Given the description of an element on the screen output the (x, y) to click on. 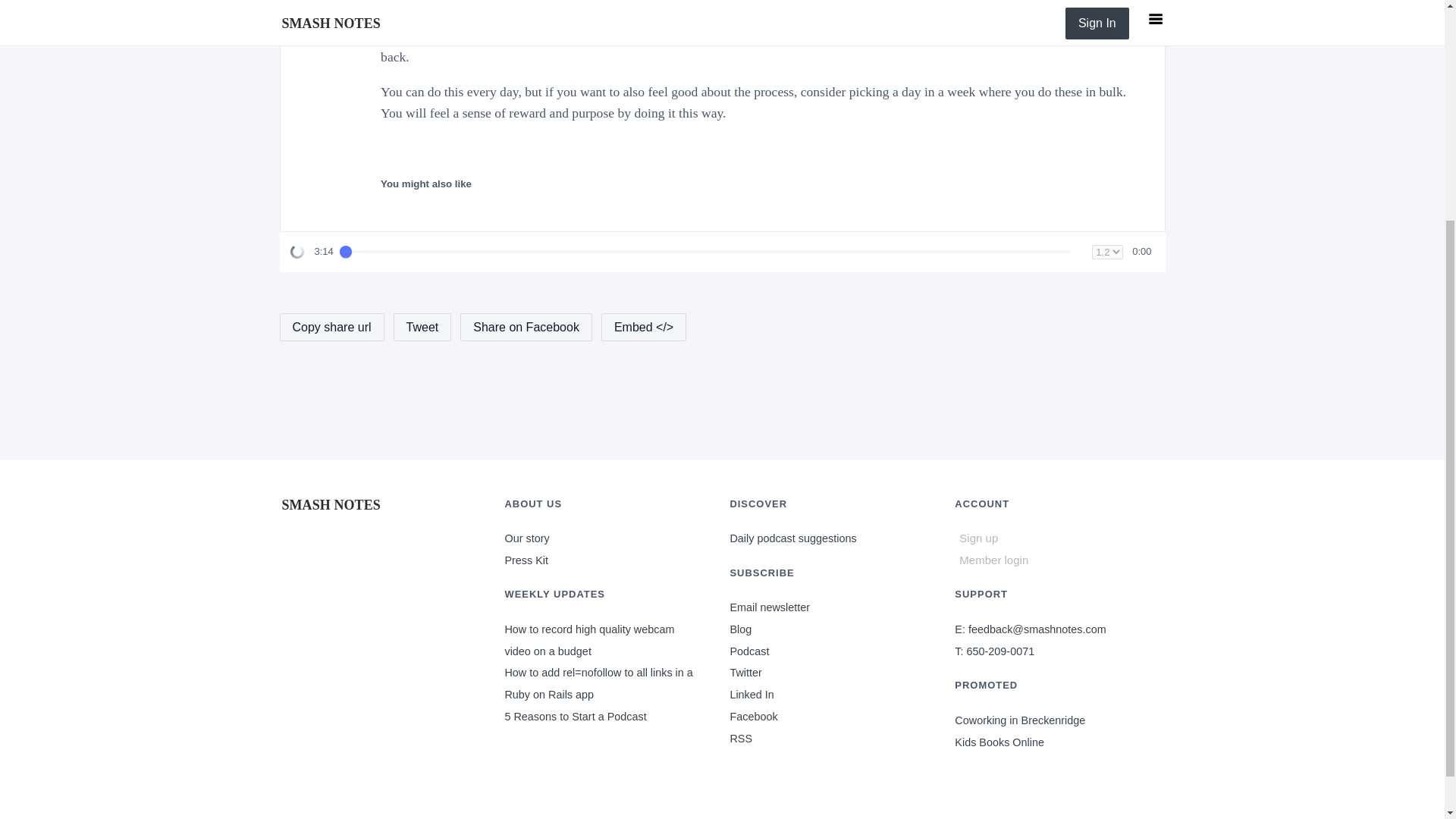
Twitter (745, 672)
Coworking in Breckenridge (1019, 720)
Sign up (1052, 538)
Podcast (748, 651)
Kids Books Online (999, 742)
Email newsletter (769, 607)
Facebook (331, 499)
Tweet (753, 716)
5 Reasons to Start a Podcast (422, 326)
